Given the description of an element on the screen output the (x, y) to click on. 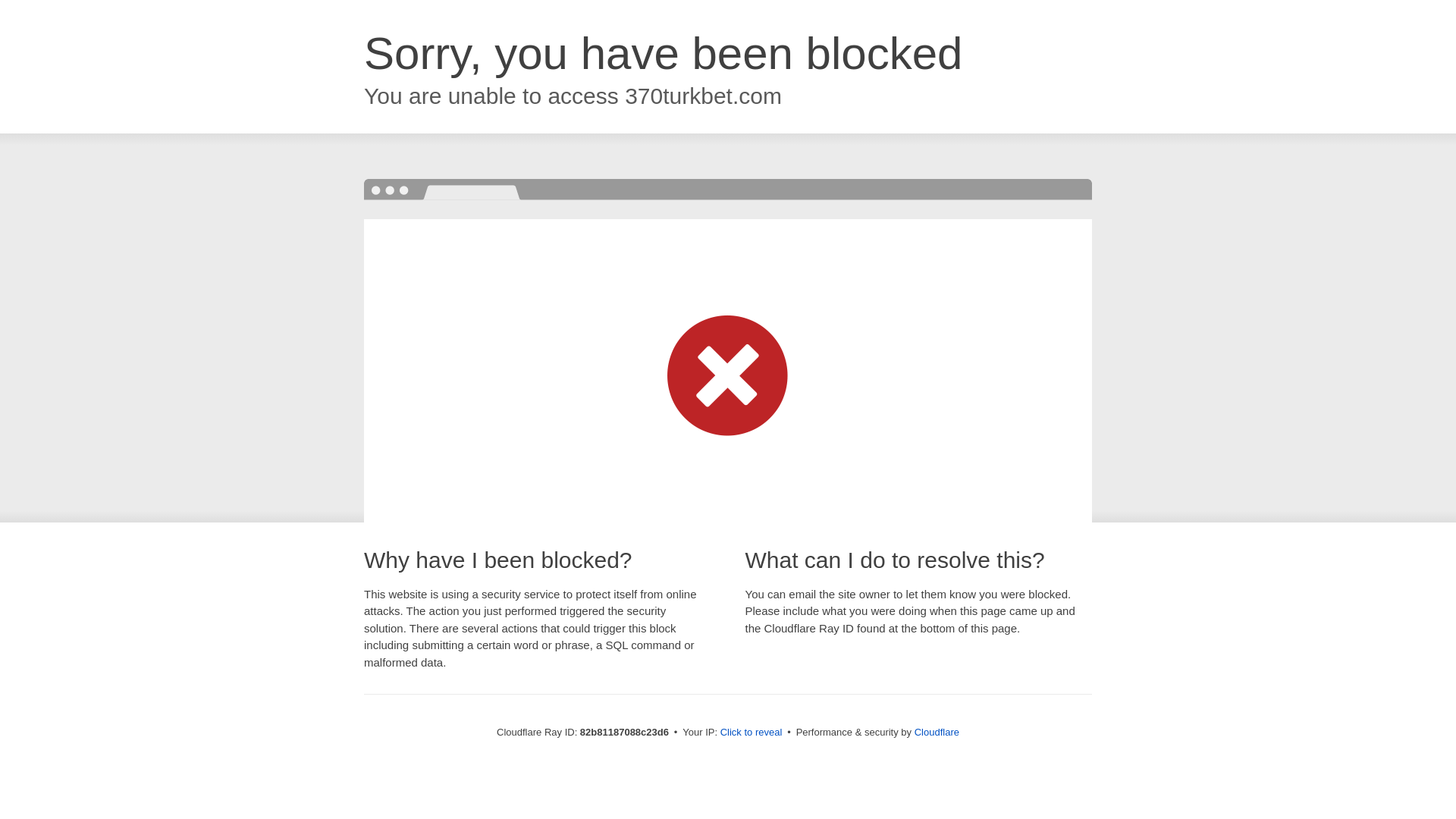
Click to reveal Element type: text (751, 732)
Cloudflare Element type: text (936, 731)
